Given the description of an element on the screen output the (x, y) to click on. 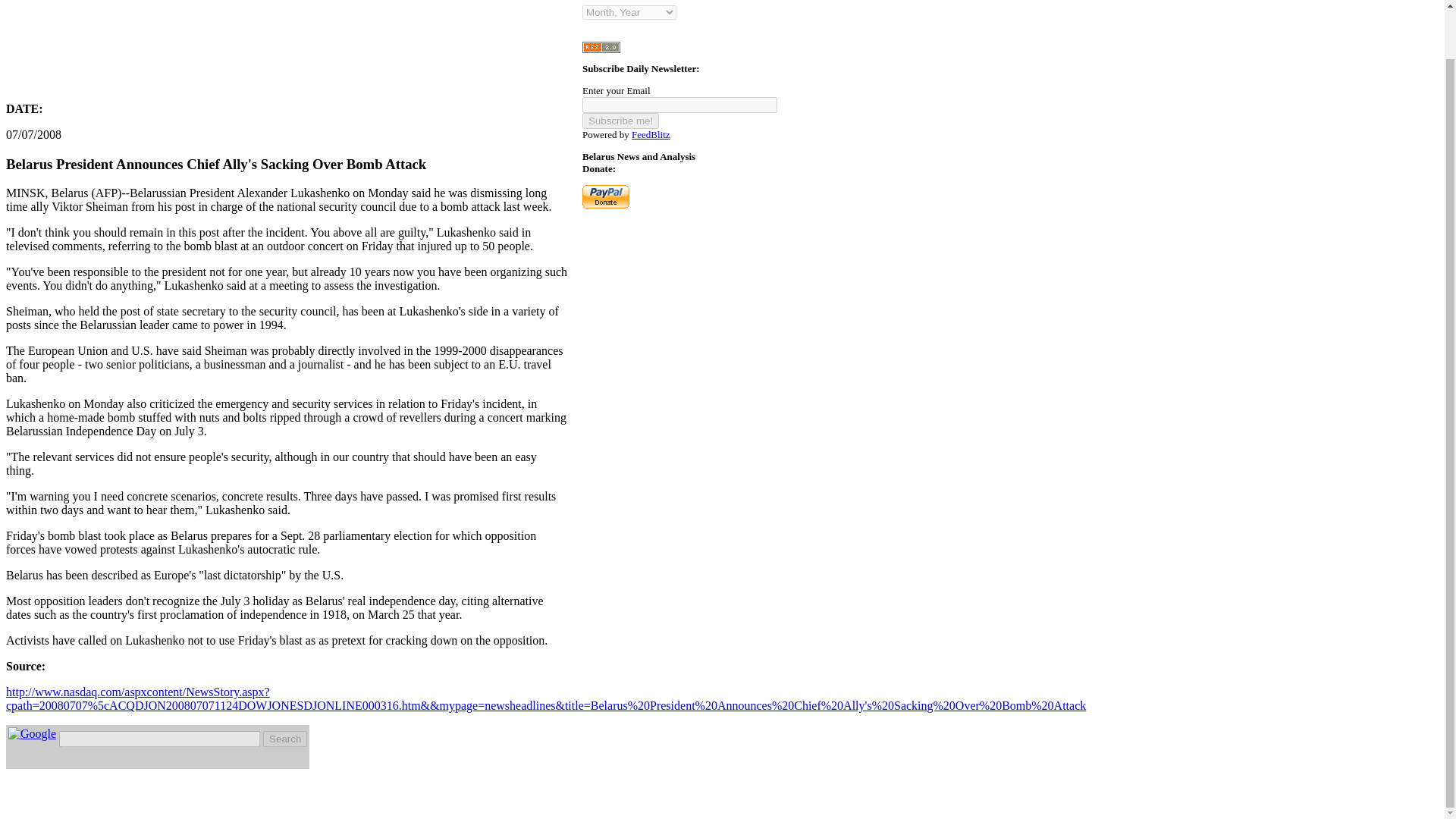
Search (285, 738)
BELARUS NEWS AND ANALYSIS (286, 45)
Advertisement (281, 56)
FeedBlitz (650, 134)
Subscribe me! (620, 120)
Subscribe me! (620, 120)
Search (285, 738)
